Given the description of an element on the screen output the (x, y) to click on. 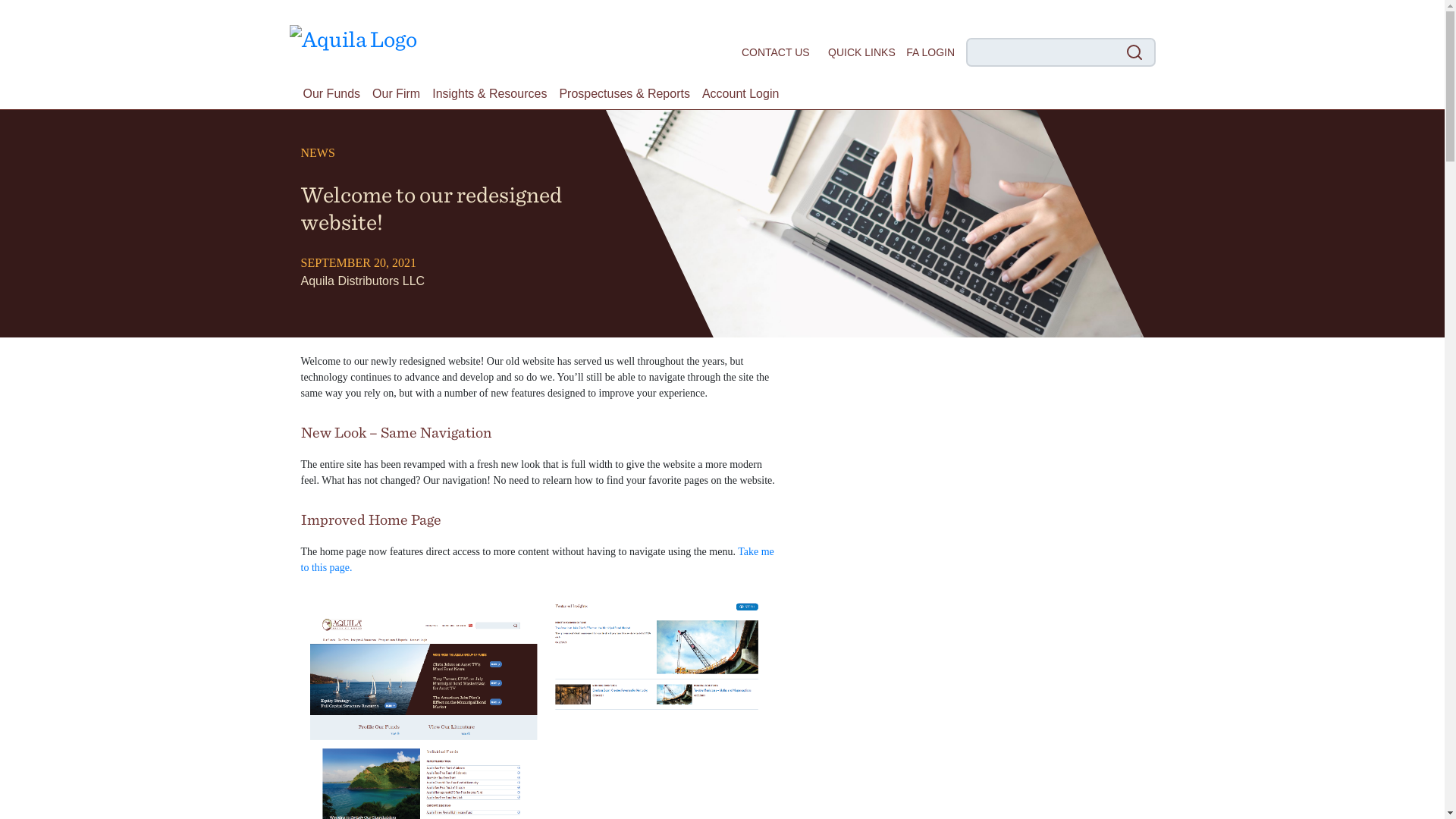
Search for: (1061, 51)
Aquila Group of Funds (352, 35)
Quick Links (861, 52)
Our Funds (331, 93)
Search (29, 14)
FA LOGIN (930, 51)
Our Firm (396, 93)
Our Funds (331, 93)
Contact Us (774, 52)
QUICK LINKS (861, 52)
CONTACT US (774, 52)
